Given the description of an element on the screen output the (x, y) to click on. 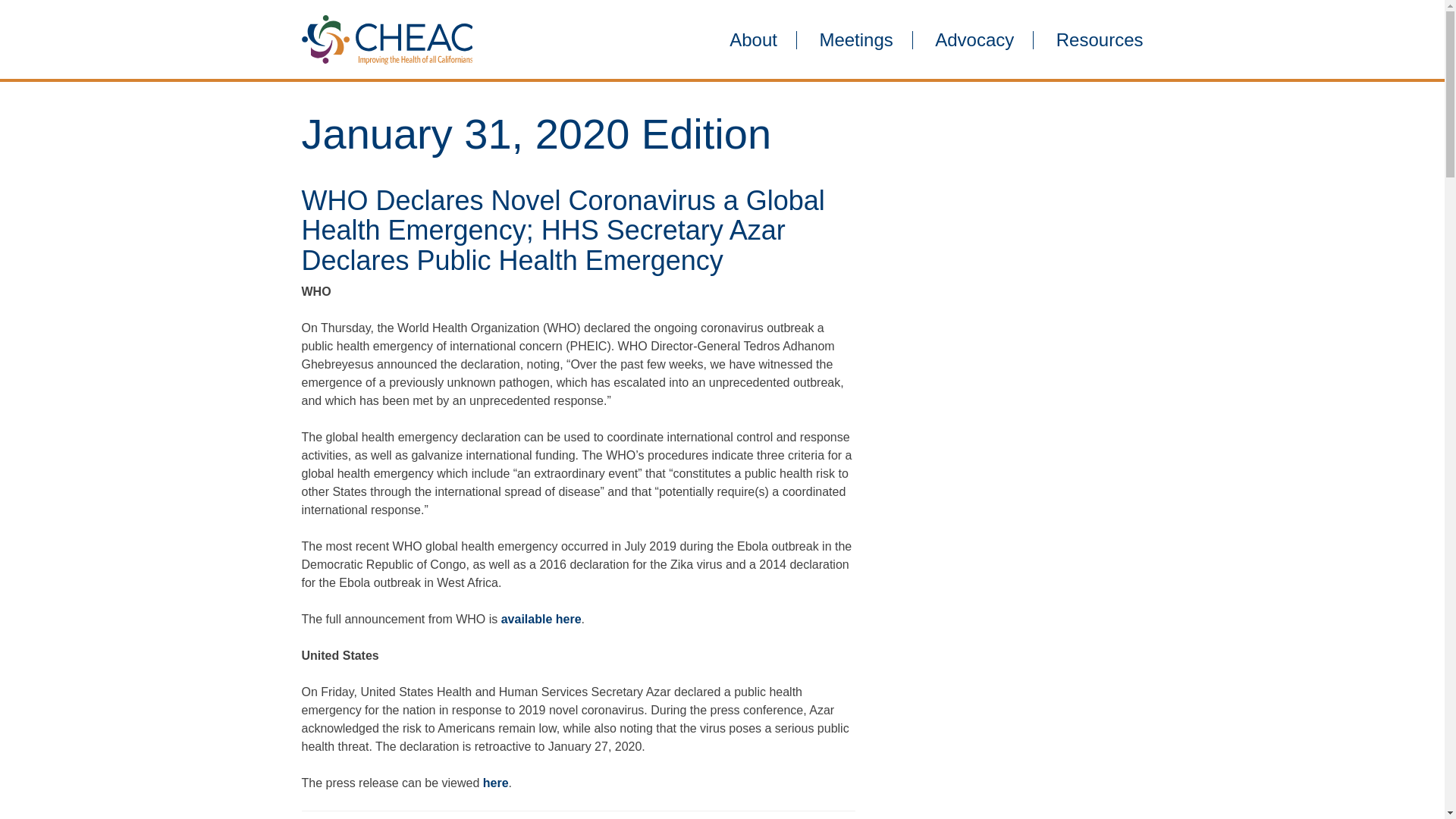
available here (540, 618)
Resources (1089, 40)
About (753, 40)
Meetings (855, 40)
Advocacy (974, 40)
here (495, 782)
